Given the description of an element on the screen output the (x, y) to click on. 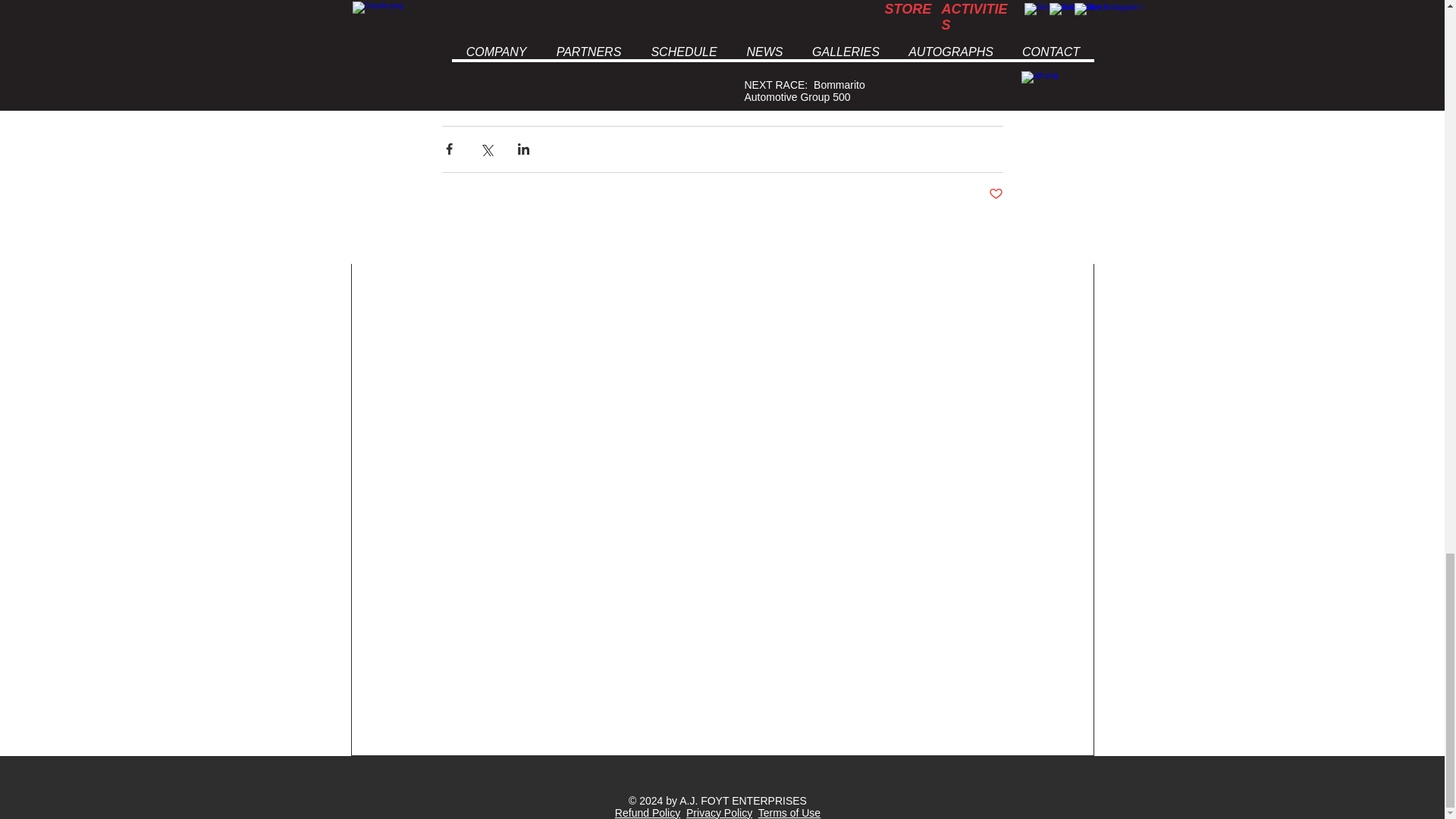
Post not marked as liked (995, 194)
